Given the description of an element on the screen output the (x, y) to click on. 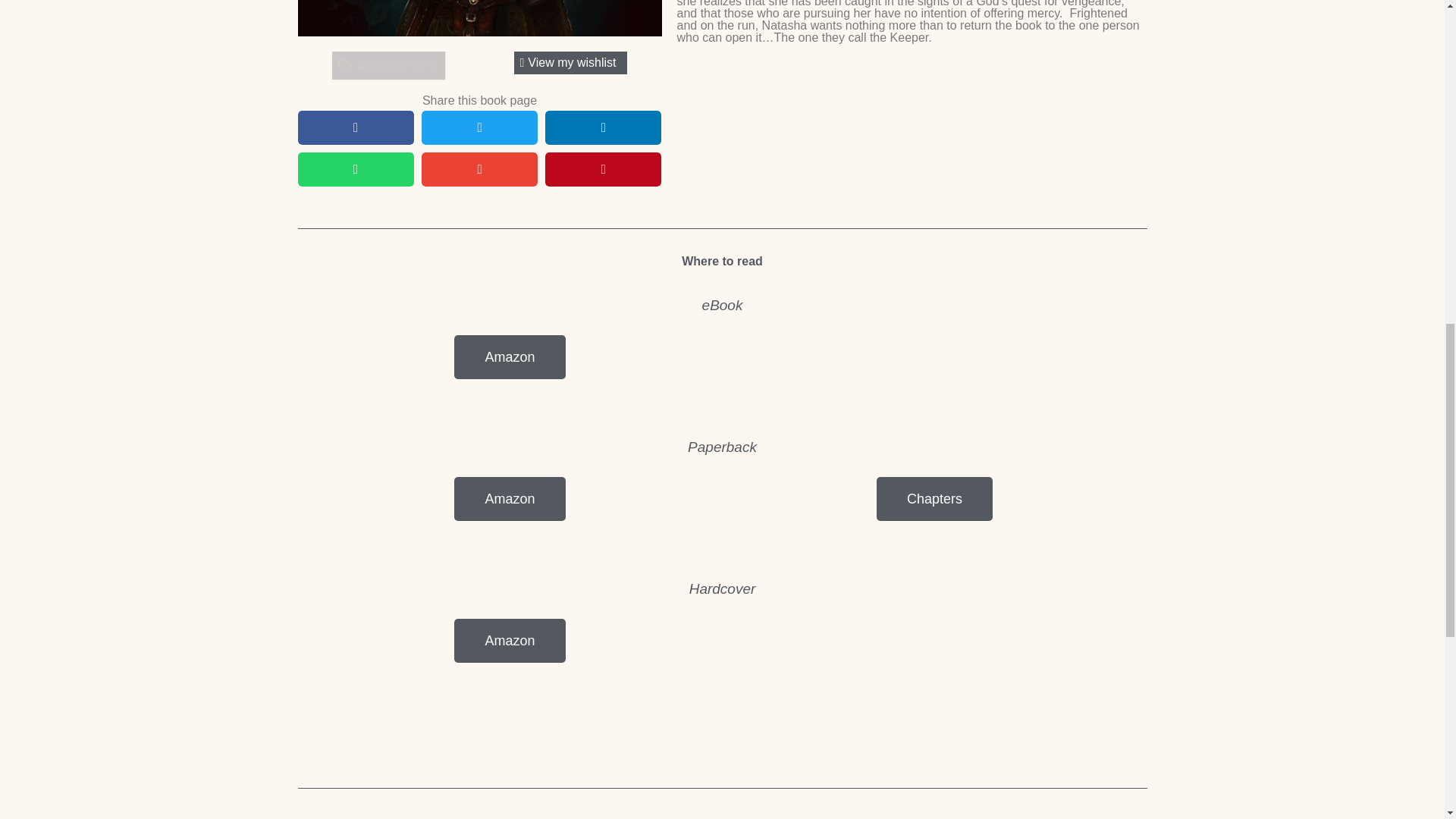
Amazon (509, 498)
Amazon (509, 356)
View my wishlist (569, 62)
Add to Wishlist (388, 65)
